Given the description of an element on the screen output the (x, y) to click on. 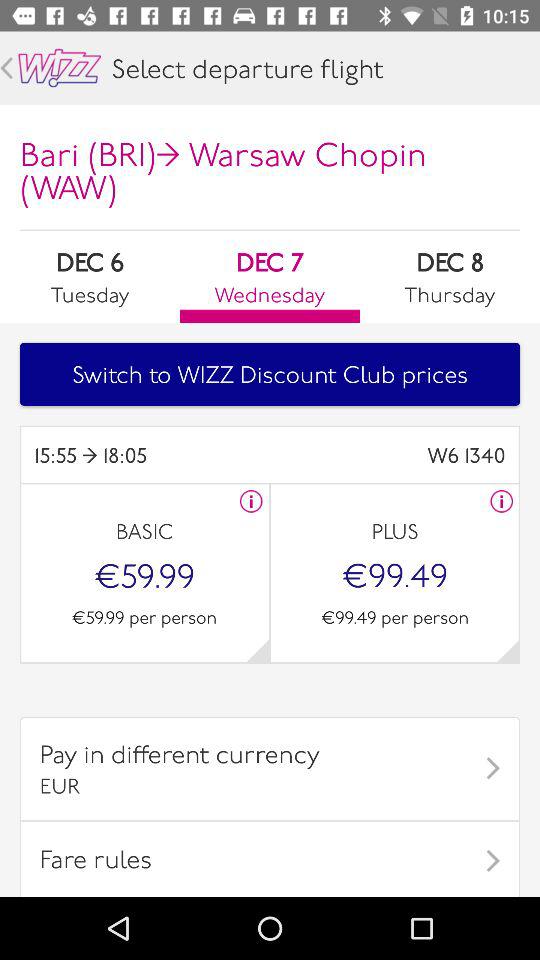
next page (257, 650)
